Given the description of an element on the screen output the (x, y) to click on. 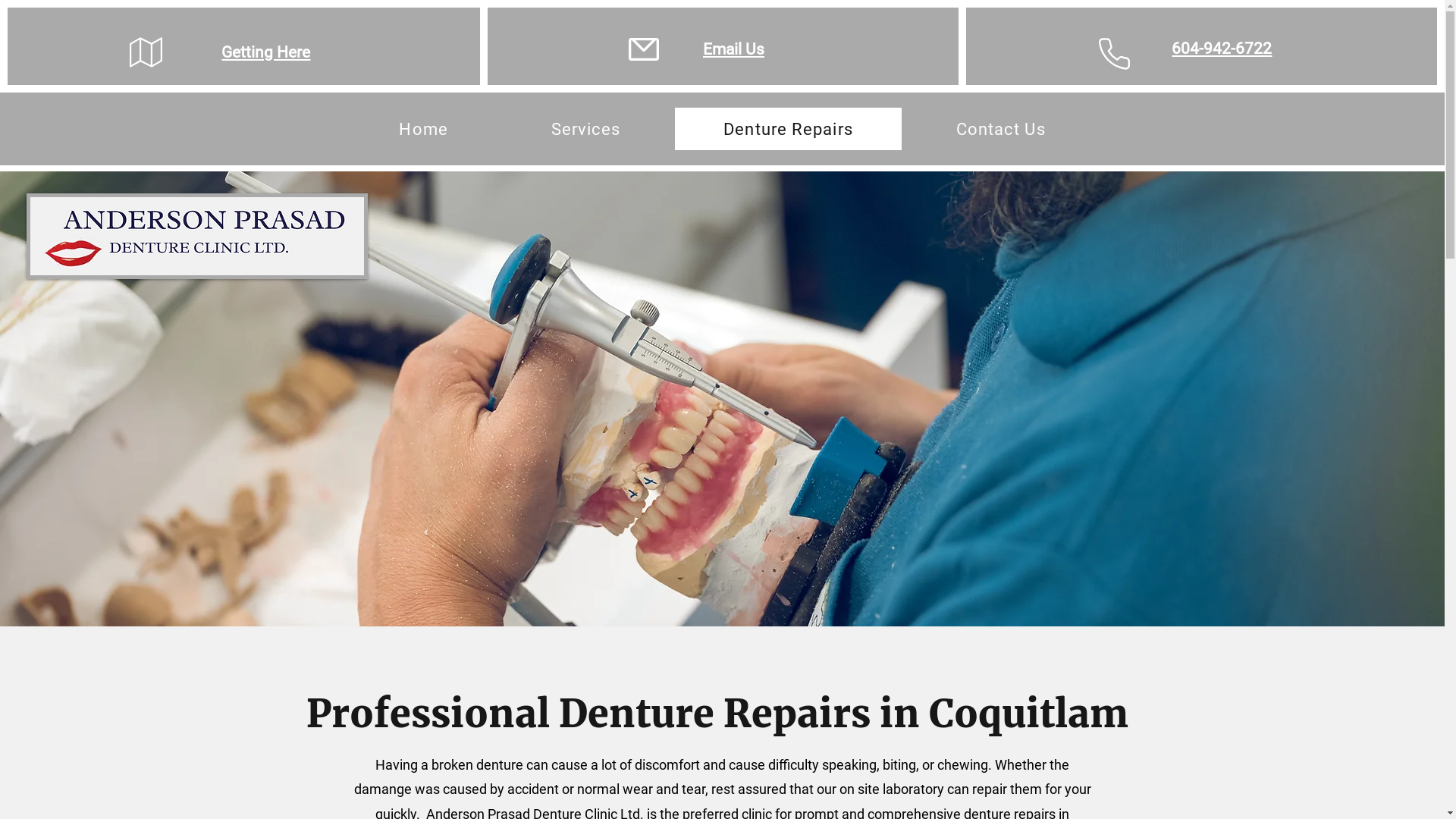
Email Us Element type: text (733, 49)
Home Element type: text (422, 128)
604-942-6722 Element type: text (1221, 48)
Logo Element type: hover (196, 236)
Getting Here Element type: text (194, 55)
Getting Here Element type: text (265, 52)
Contact Us Element type: text (1000, 128)
Denture Repairs Element type: text (787, 128)
Services Element type: text (585, 128)
